Given the description of an element on the screen output the (x, y) to click on. 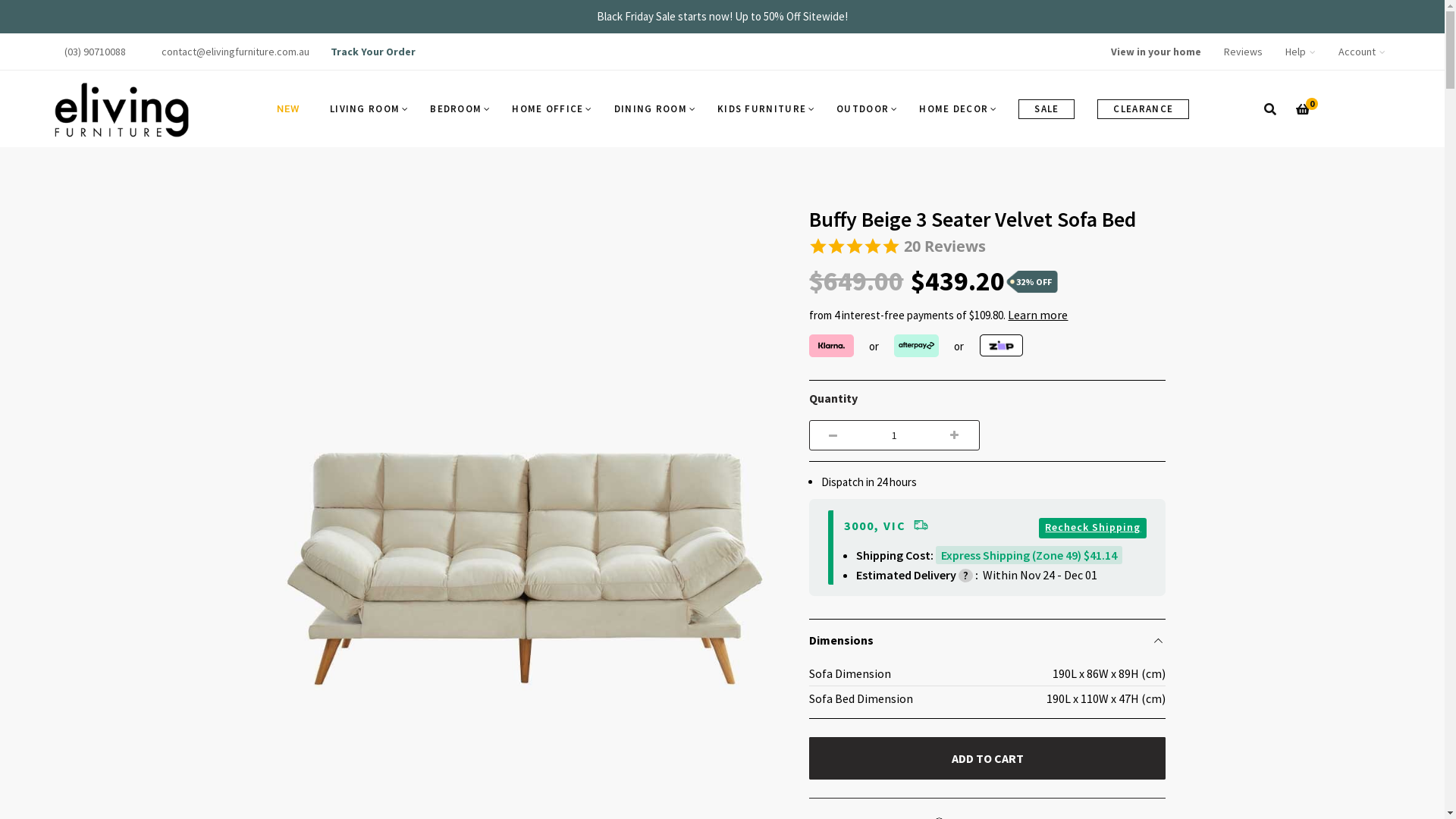
Reviews Element type: text (1242, 51)
HOME OFFICE Element type: text (550, 108)
OUTDOOR Element type: text (866, 108)
(03) 90710088 Element type: text (94, 51)
View in your home Element type: text (1155, 51)
contact@elivingfurniture.com.au Element type: text (235, 51)
Account Element type: text (1361, 51)
KIDS FURNITURE Element type: text (765, 108)
BEDROOM Element type: text (459, 108)
20 Reviews Element type: text (944, 246)
CLEARANCE Element type: text (1143, 109)
HOME DECOR Element type: text (957, 108)
LIVING ROOM Element type: text (368, 108)
4.8 star rating
20 Reviews Element type: text (987, 246)
Track Your Order Element type: text (372, 51)
Learn more Element type: text (1037, 314)
DINING ROOM Element type: text (654, 108)
NEW Element type: text (288, 109)
Help Element type: text (1300, 51)
0 Element type: text (1302, 108)
ADD TO CART Element type: text (987, 758)
Recheck Shipping Element type: text (1092, 526)
SALE Element type: text (1046, 109)
